Given the description of an element on the screen output the (x, y) to click on. 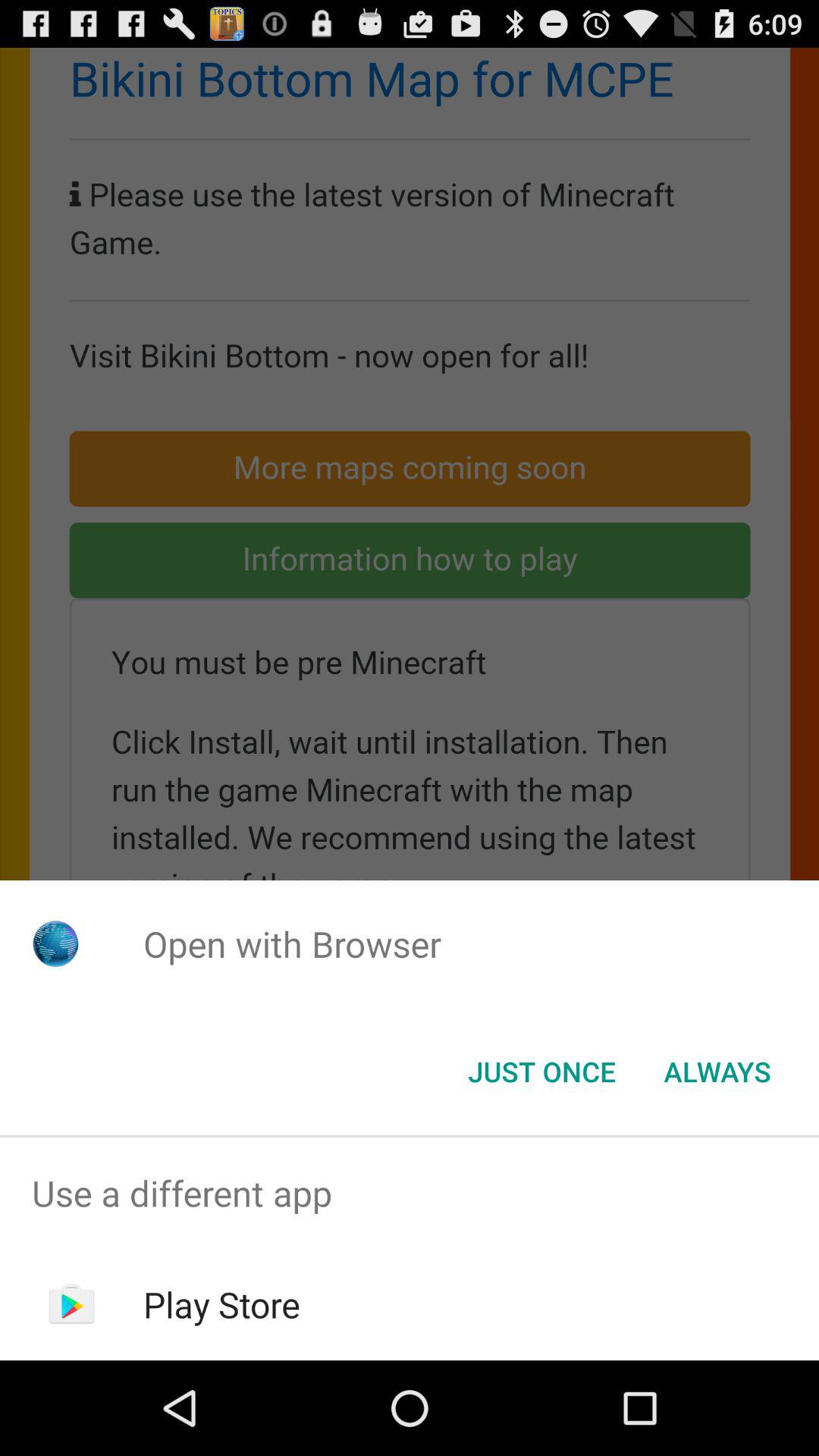
scroll to the just once (541, 1071)
